Given the description of an element on the screen output the (x, y) to click on. 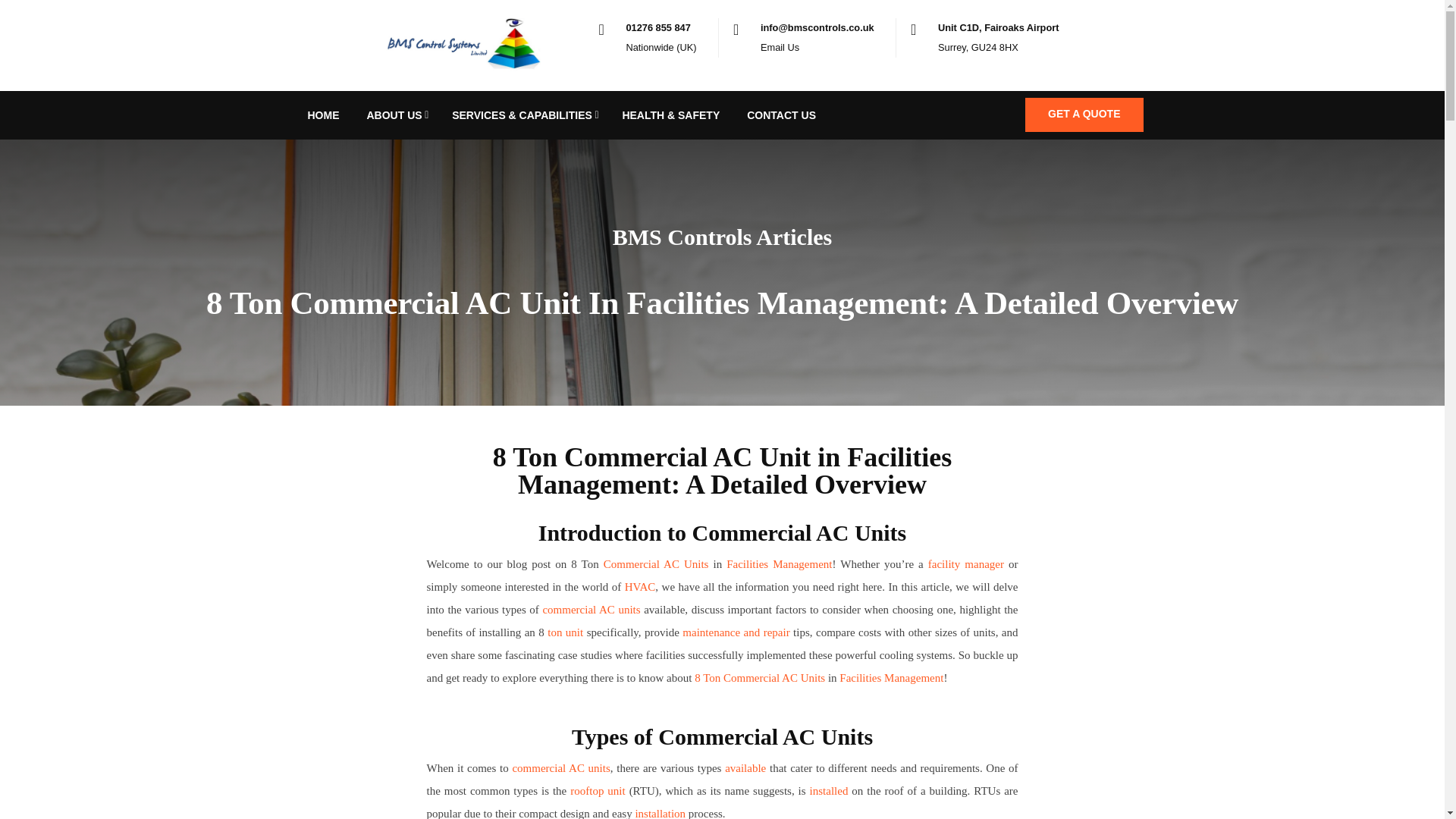
Facilities Management (891, 677)
Commercial AC Units (656, 563)
maintenance and repair (735, 632)
8 Ton Commercial AC Units (759, 677)
rooftop unit (597, 790)
GET A QUOTE (1083, 114)
commercial AC units (561, 767)
HVAC (640, 586)
commercial AC units (590, 609)
available (745, 767)
